Given the description of an element on the screen output the (x, y) to click on. 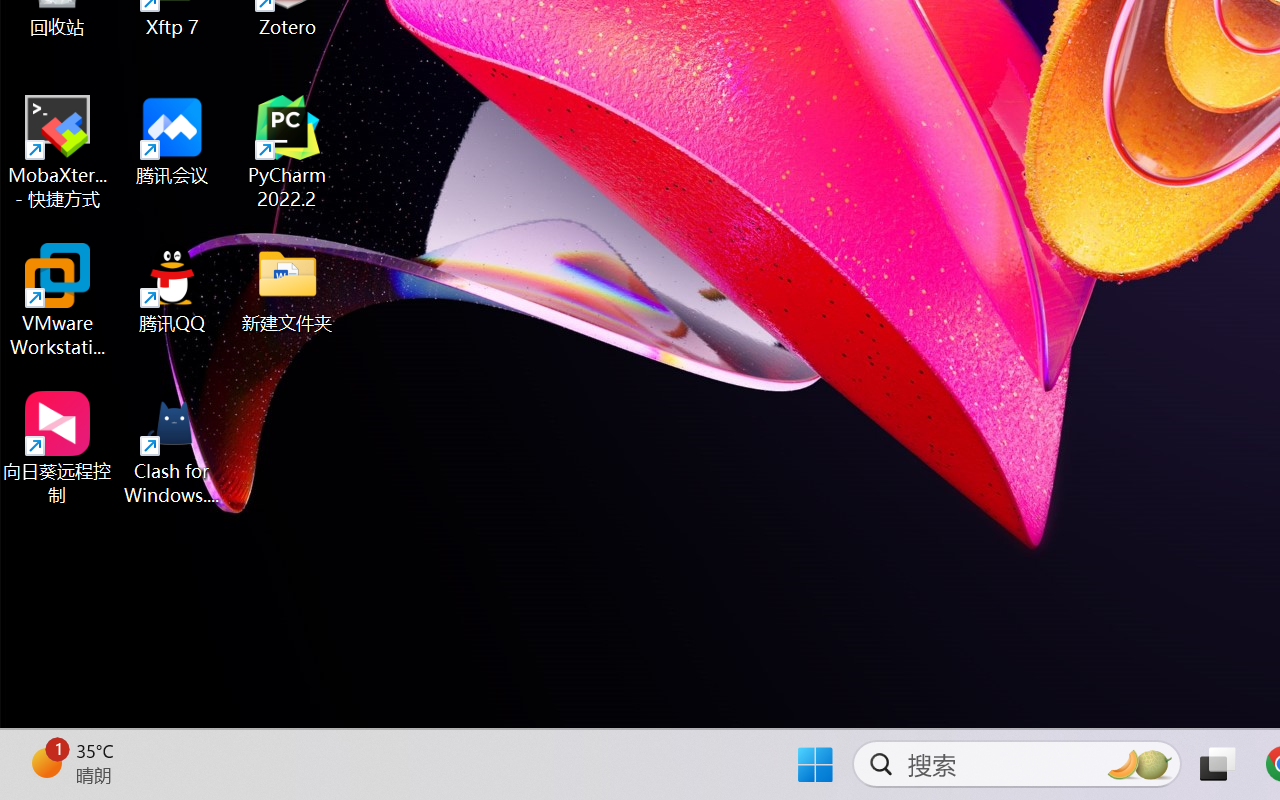
PyCharm 2022.2 (287, 152)
VMware Workstation Pro (57, 300)
